Given the description of an element on the screen output the (x, y) to click on. 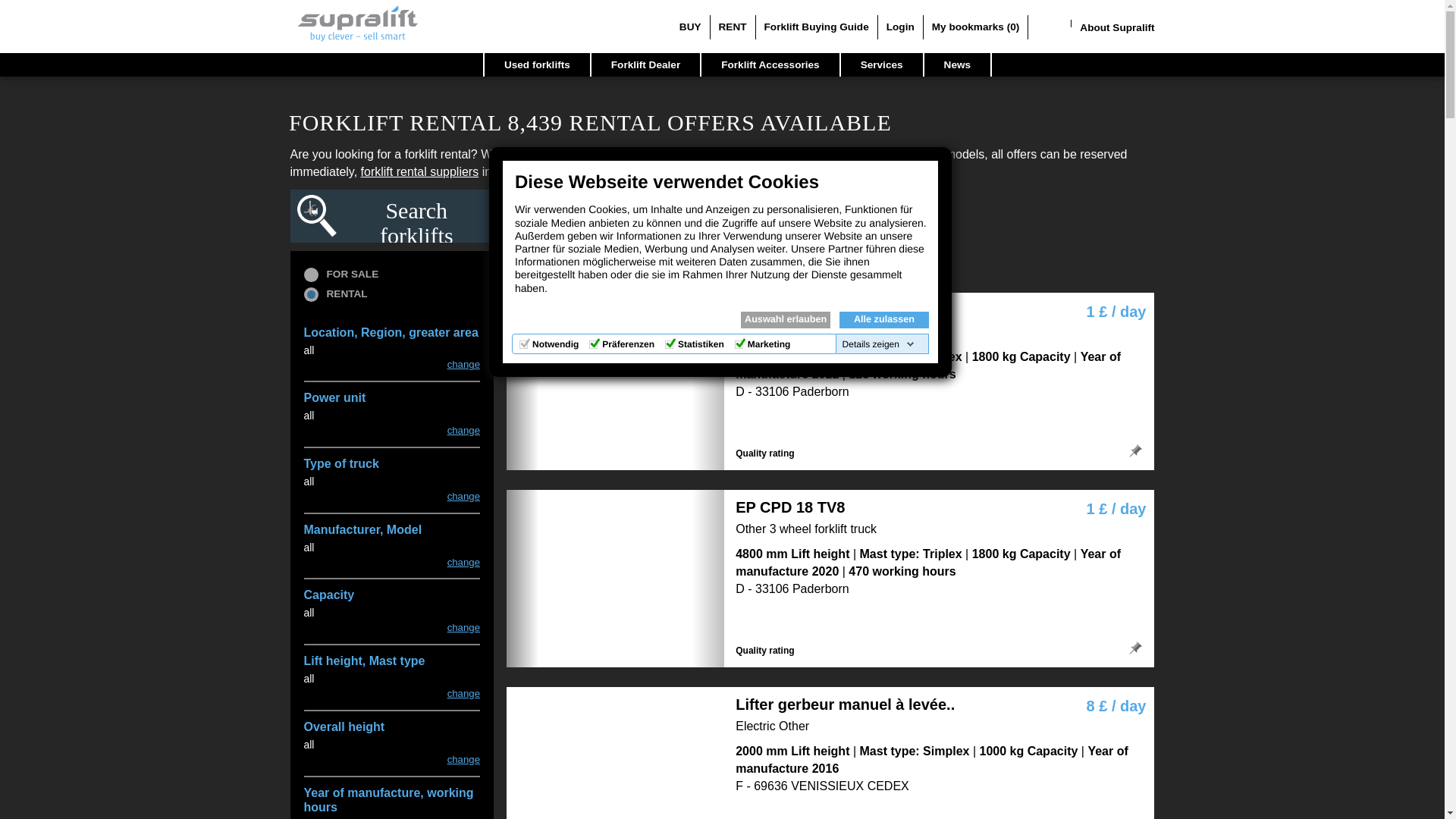
Alle zulassen (884, 320)
Auswahl erlauben (785, 320)
Details zeigen (878, 344)
